Given the description of an element on the screen output the (x, y) to click on. 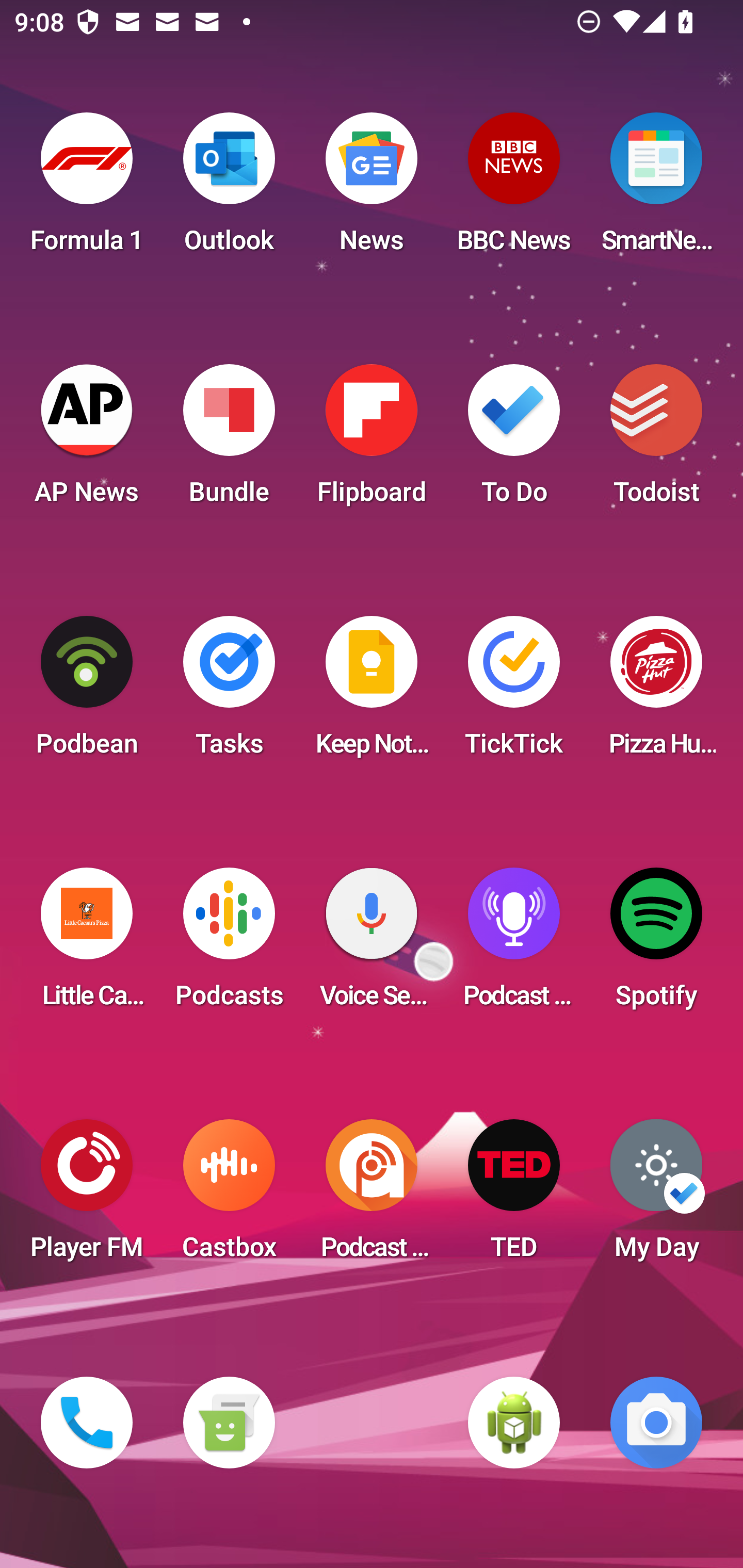
Formula 1 (86, 188)
Outlook (228, 188)
News (371, 188)
BBC News (513, 188)
SmartNews (656, 188)
AP News (86, 440)
Bundle (228, 440)
Flipboard (371, 440)
To Do (513, 440)
Todoist (656, 440)
Podbean (86, 692)
Tasks (228, 692)
Keep Notes (371, 692)
TickTick (513, 692)
Pizza Hut HK & Macau (656, 692)
Little Caesars Pizza (86, 943)
Podcasts (228, 943)
Voice Search (371, 943)
Podcast Player (513, 943)
Spotify (656, 943)
Player FM (86, 1195)
Castbox (228, 1195)
Podcast Addict (371, 1195)
TED (513, 1195)
My Day (656, 1195)
Phone (86, 1422)
Messaging (228, 1422)
WebView Browser Tester (513, 1422)
Camera (656, 1422)
